Given the description of an element on the screen output the (x, y) to click on. 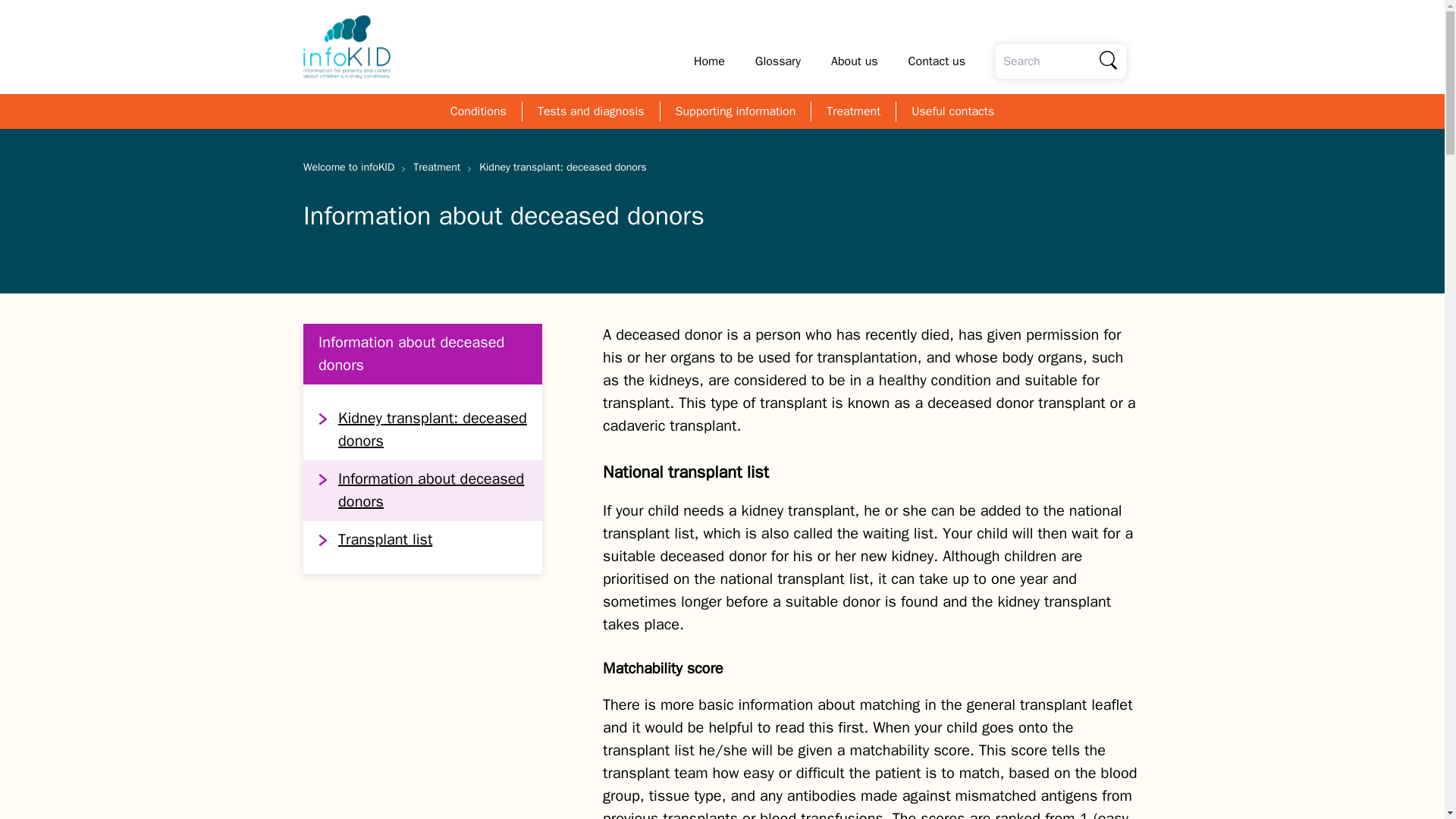
Transplant list (421, 539)
Welcome to infoKID (354, 167)
Useful contacts (952, 111)
Treatment (853, 111)
Tests and diagnosis (591, 111)
Home (709, 61)
Information about deceased donors (421, 490)
Glossary (777, 61)
About us (854, 61)
Supporting information (735, 111)
Contact us (936, 61)
Kidney transplant: deceased donors (562, 167)
Kidney transplant: deceased donors (421, 429)
Conditions (477, 111)
Treatment (442, 167)
